Given the description of an element on the screen output the (x, y) to click on. 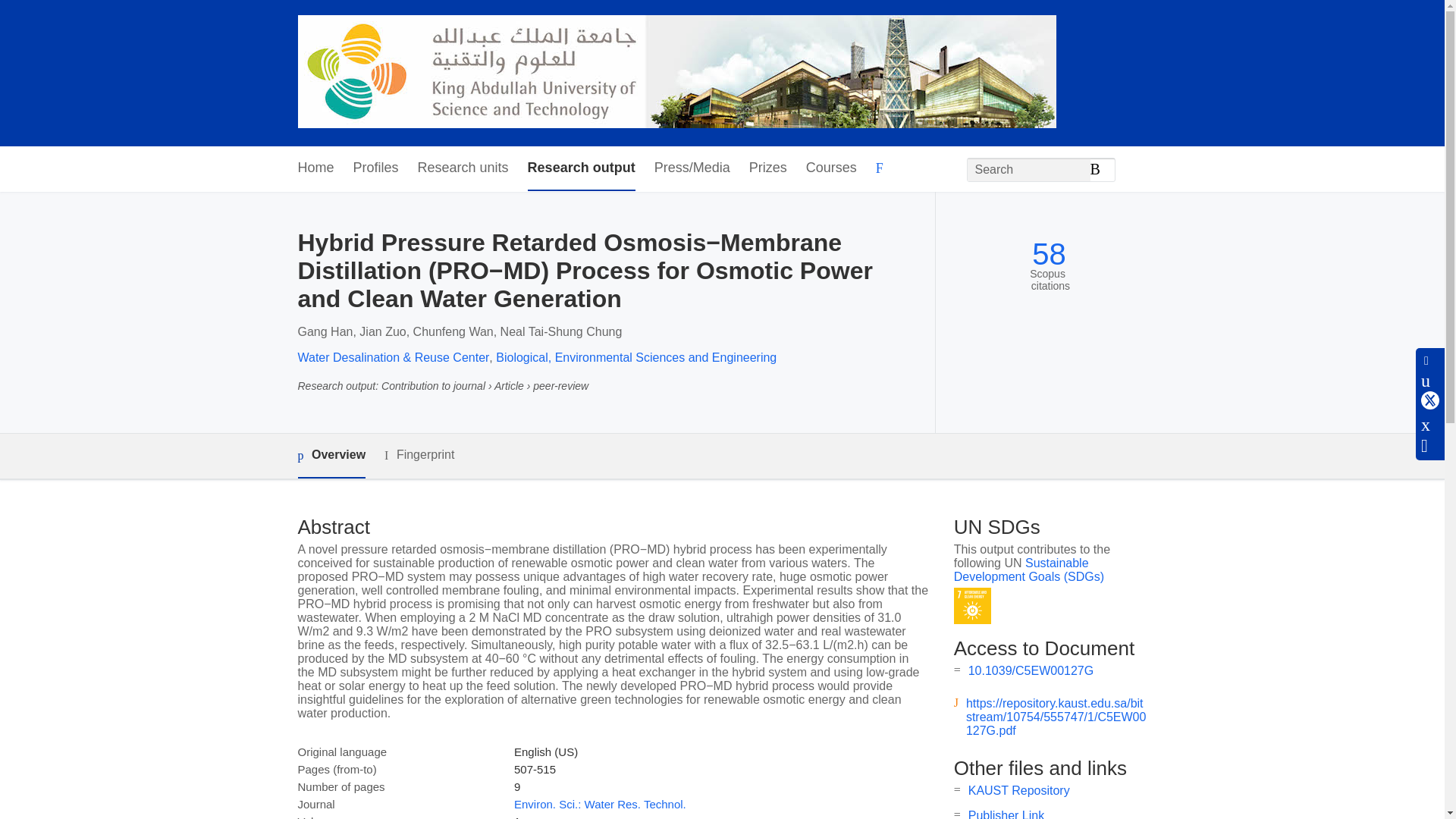
Fingerprint (419, 455)
Overview (331, 456)
SDG 7 - Affordable and Clean Energy (972, 606)
Biological, Environmental Sciences and Engineering (636, 357)
Publisher Link (1006, 814)
Profiles (375, 168)
Research units (462, 168)
58 (1048, 253)
Environ. Sci.: Water Res. Technol. (599, 803)
Research output (580, 168)
KAUST Repository (1019, 789)
Courses (831, 168)
KAUST PORTAL FOR RESEARCHERS AND STUDENTS Home (676, 73)
